Given the description of an element on the screen output the (x, y) to click on. 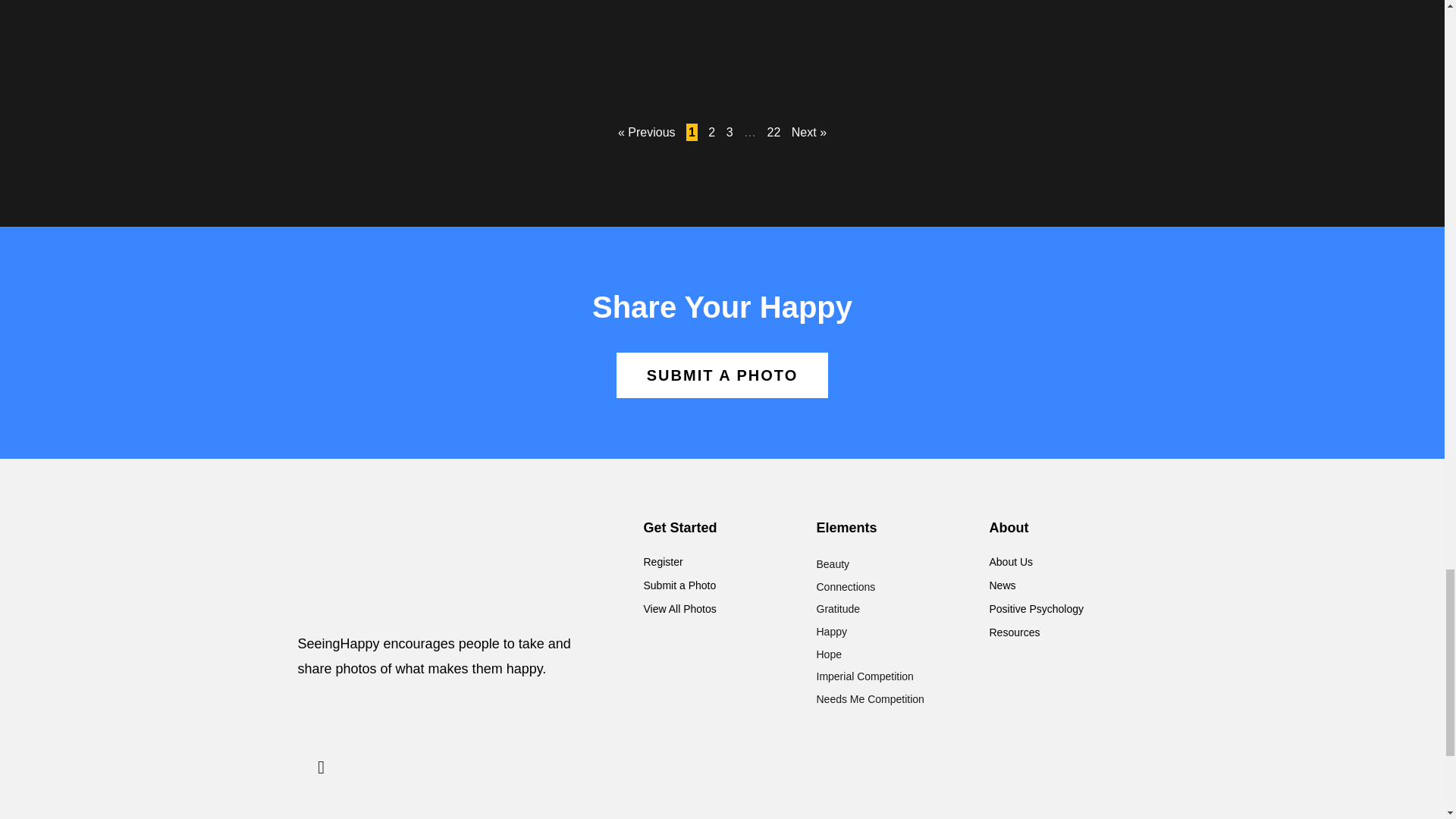
seeing-happy-logo-01 (446, 567)
